Given the description of an element on the screen output the (x, y) to click on. 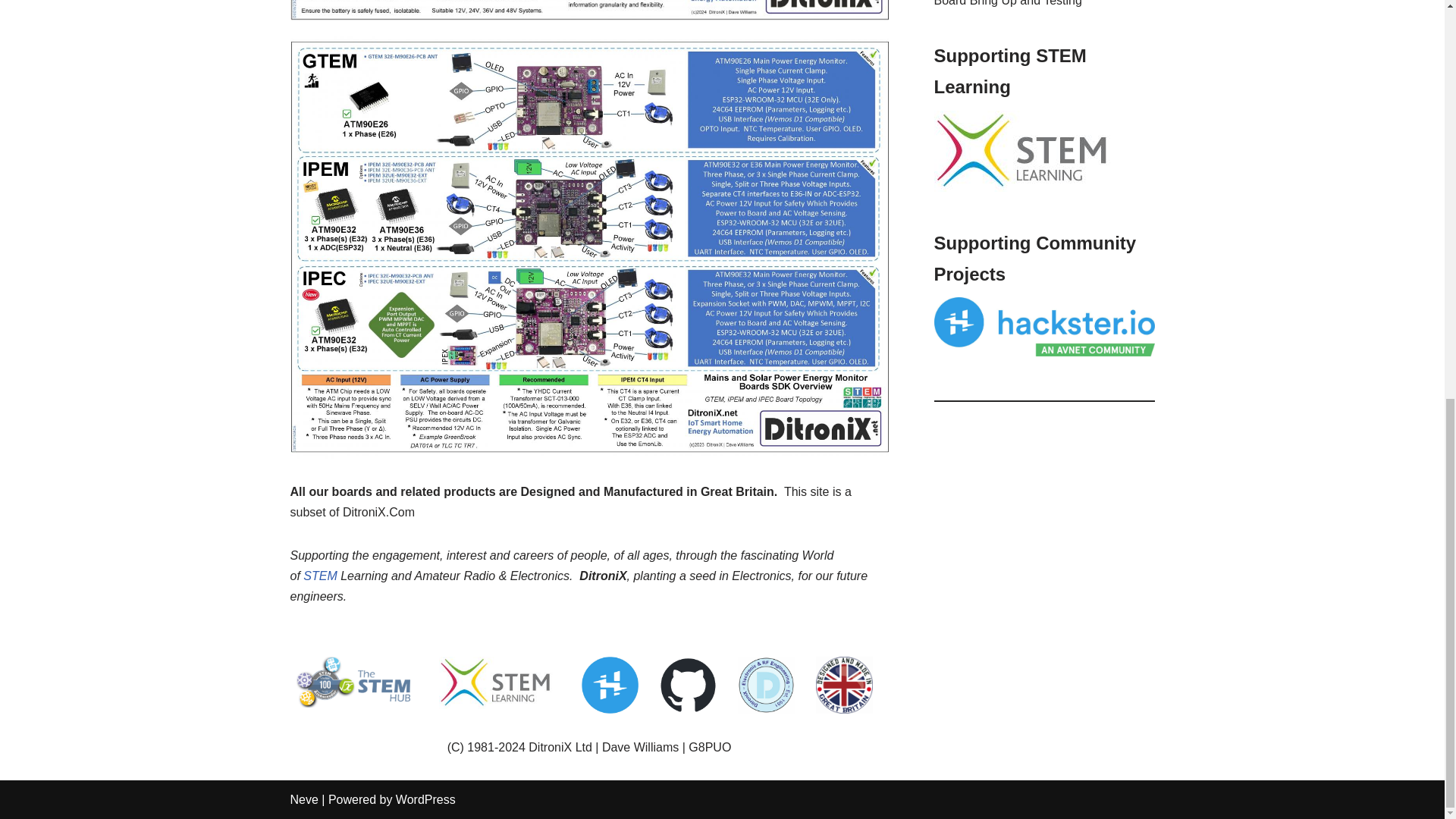
Supporting Community Projects (1044, 326)
STEM (319, 575)
